Given the description of an element on the screen output the (x, y) to click on. 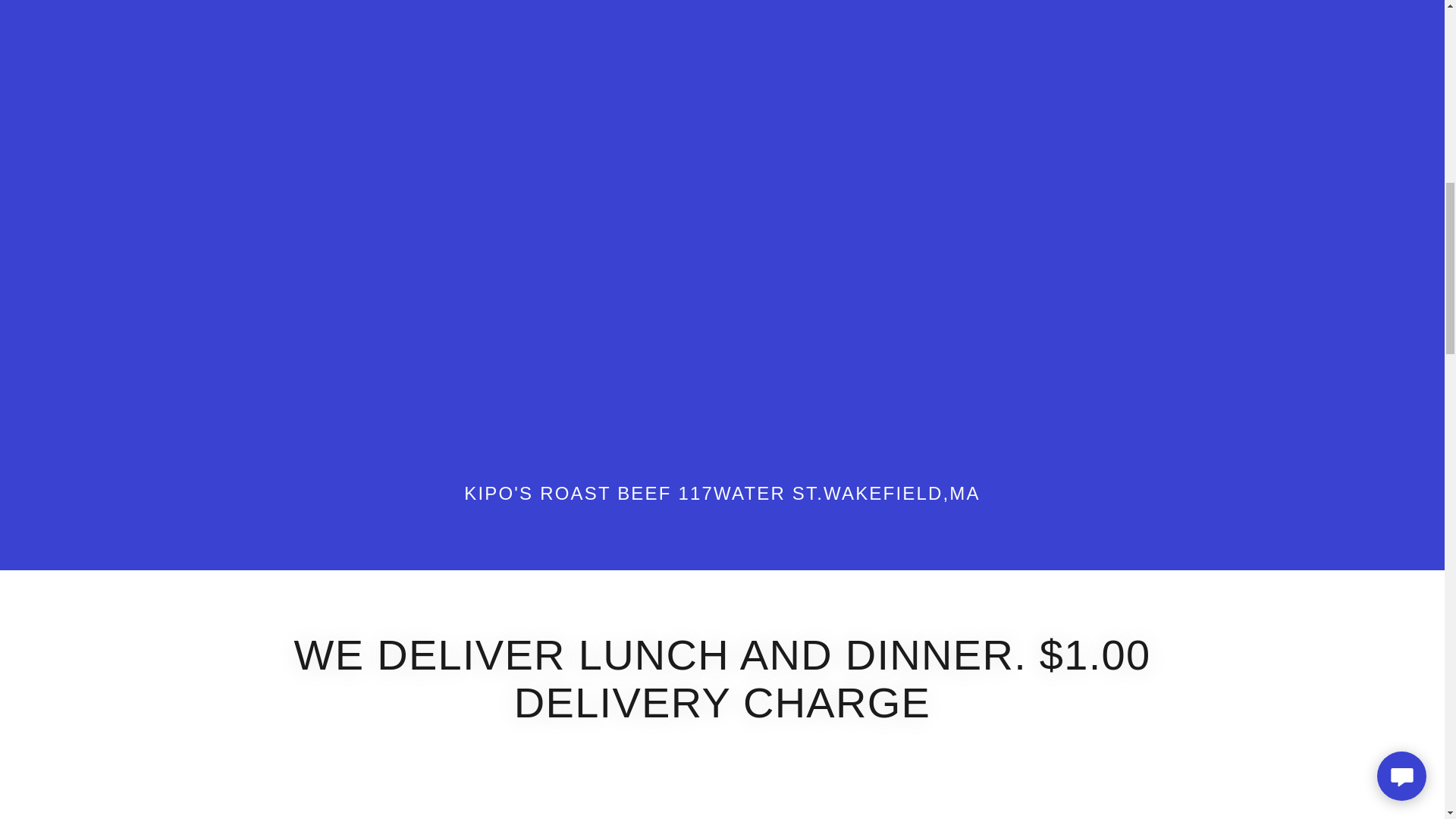
ACCEPT (1274, 324)
